Given the description of an element on the screen output the (x, y) to click on. 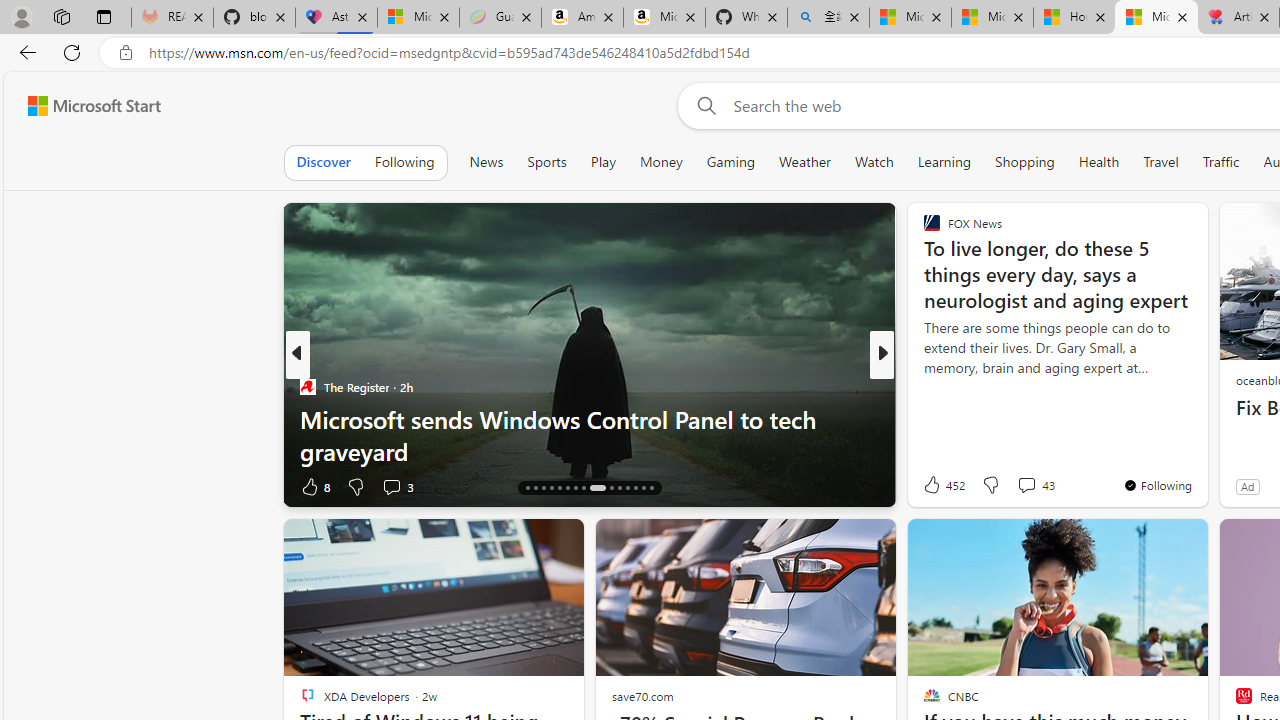
AutomationID: tab-17 (535, 487)
Shopping (1025, 162)
View comments 67 Comment (1019, 485)
Shopping (1025, 161)
182 Like (936, 486)
You're following FOX News (1157, 485)
CNET (923, 386)
FOX News (923, 386)
